Given the description of an element on the screen output the (x, y) to click on. 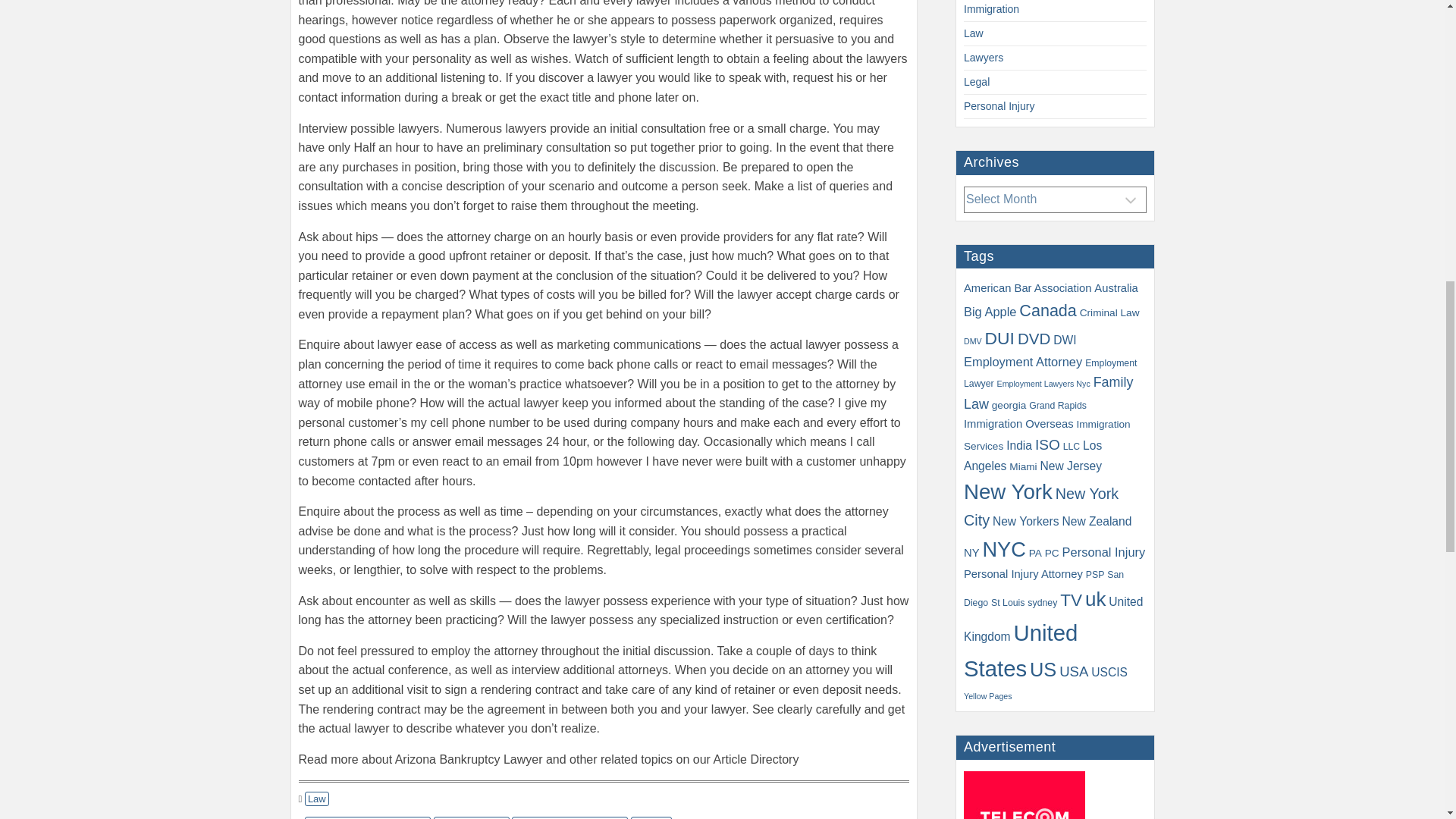
Article Directory (471, 817)
American Bar Association (1026, 287)
Arizona Bankruptcy Lawyer (367, 817)
Legal (976, 81)
Australia (1116, 287)
Canada (1047, 310)
Immigration (991, 9)
Law (316, 798)
Lawyers (983, 57)
Main Tx (650, 817)
Attorney Referral Service (569, 817)
Law (973, 33)
DMV (972, 340)
Criminal Law (1110, 312)
Big Apple (989, 311)
